Given the description of an element on the screen output the (x, y) to click on. 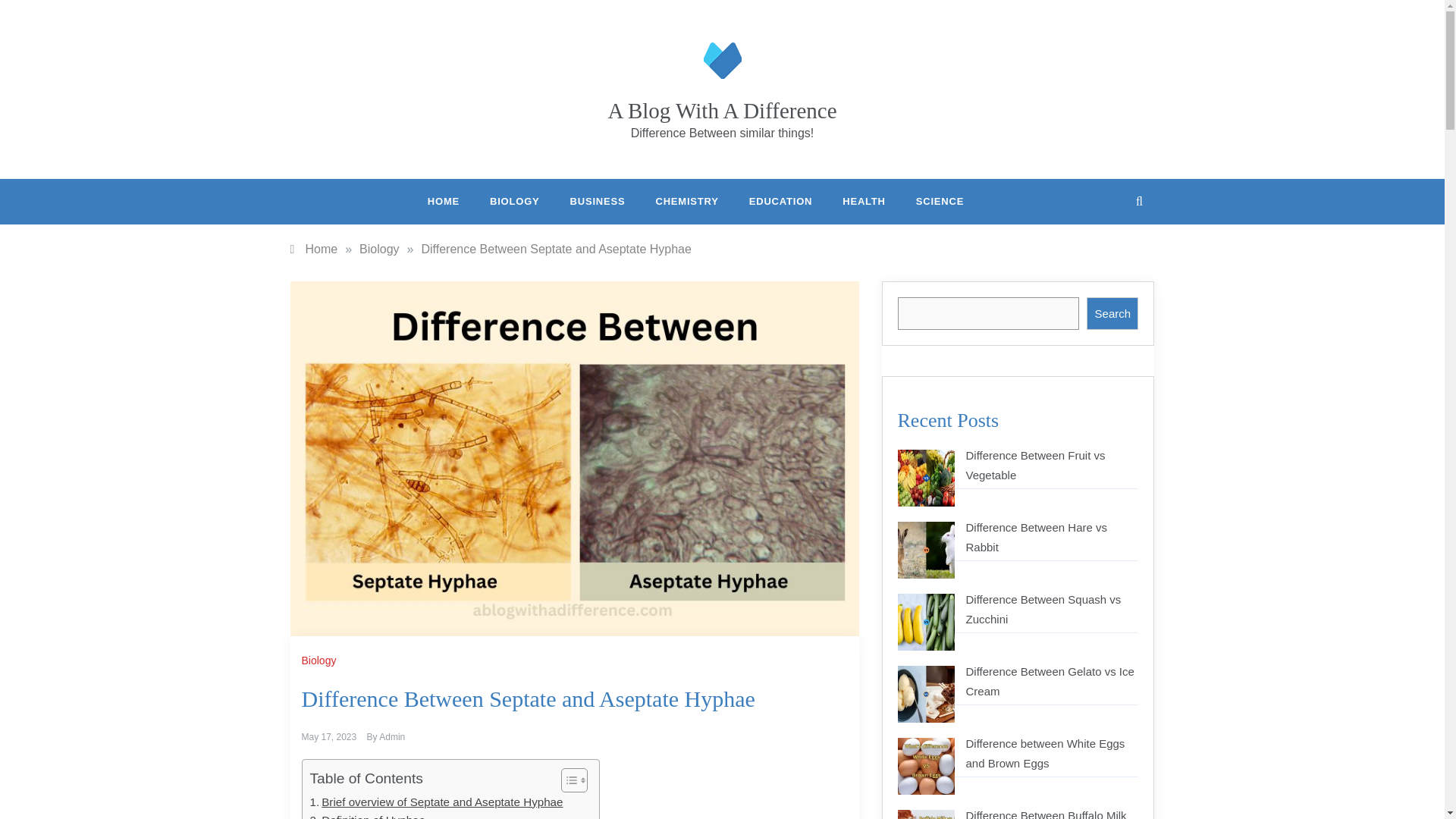
Difference Between Septate and Aseptate Hyphae (555, 248)
SCIENCE (932, 201)
BUSINESS (597, 201)
Biology (378, 248)
CHEMISTRY (686, 201)
May 17, 2023 (328, 737)
BIOLOGY (514, 201)
A Blog With A Difference (721, 110)
HEALTH (864, 201)
Definition of Hyphae (366, 815)
Difference Between Fruit vs Vegetable (1035, 464)
Search (1112, 313)
Brief overview of Septate and Aseptate Hyphae (435, 802)
Definition of Hyphae (366, 815)
Home (313, 248)
